Given the description of an element on the screen output the (x, y) to click on. 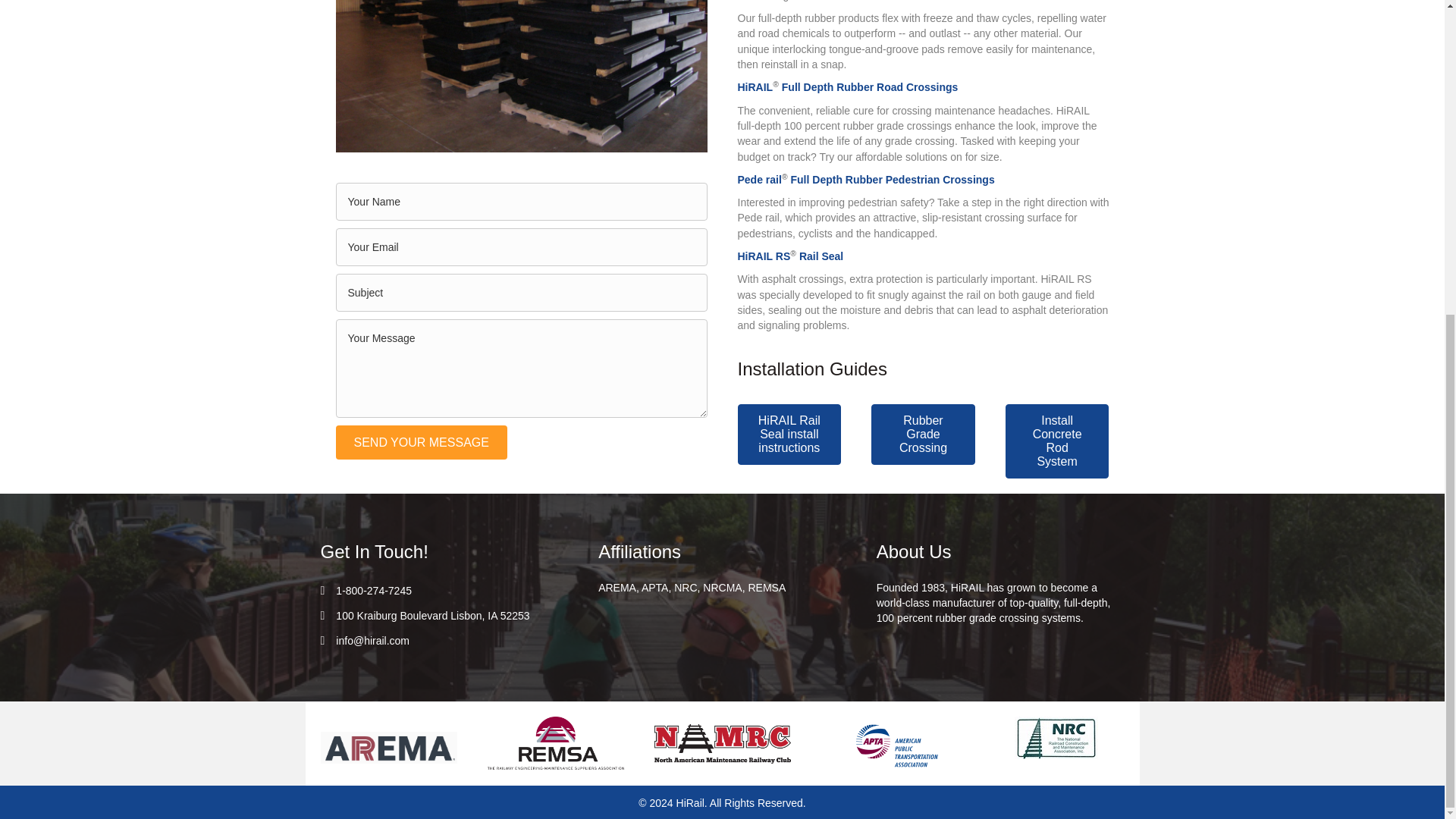
Full Depth Rubber Road Crossings (869, 87)
American Public Transportation Association (896, 745)
Install Concrete Rod System (1057, 441)
North American Maintenance Railway Club (721, 743)
HiRAIL RS (763, 256)
Rubber Grade Crossing (922, 434)
The Railway Engineering Maintenance Suppliers Association (554, 743)
Full Depth Rubber Pedestrian Crossings (892, 179)
100 Kraiburg Boulevard Lisbon, IA 52253 (432, 615)
Pede rail (758, 179)
HiRAIL (754, 87)
AREMA (388, 748)
Rail Seal (821, 256)
SEND YOUR MESSAGE (420, 441)
1-800-274-7245 (374, 590)
